Given the description of an element on the screen output the (x, y) to click on. 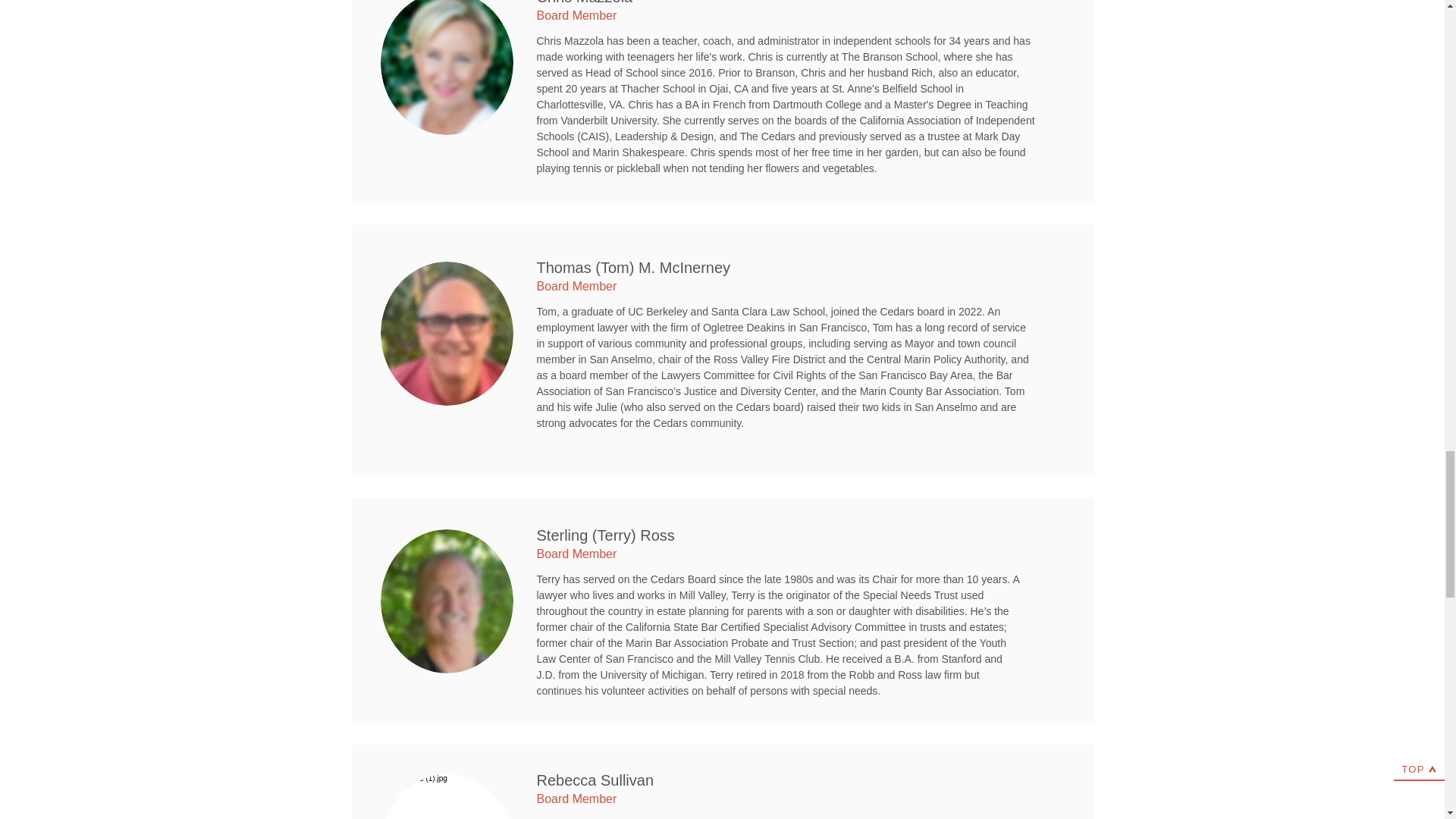
guy2.jpg (446, 601)
guy2.jpg (446, 333)
guy2.jpg (446, 67)
guy2.jpg (446, 796)
